Given the description of an element on the screen output the (x, y) to click on. 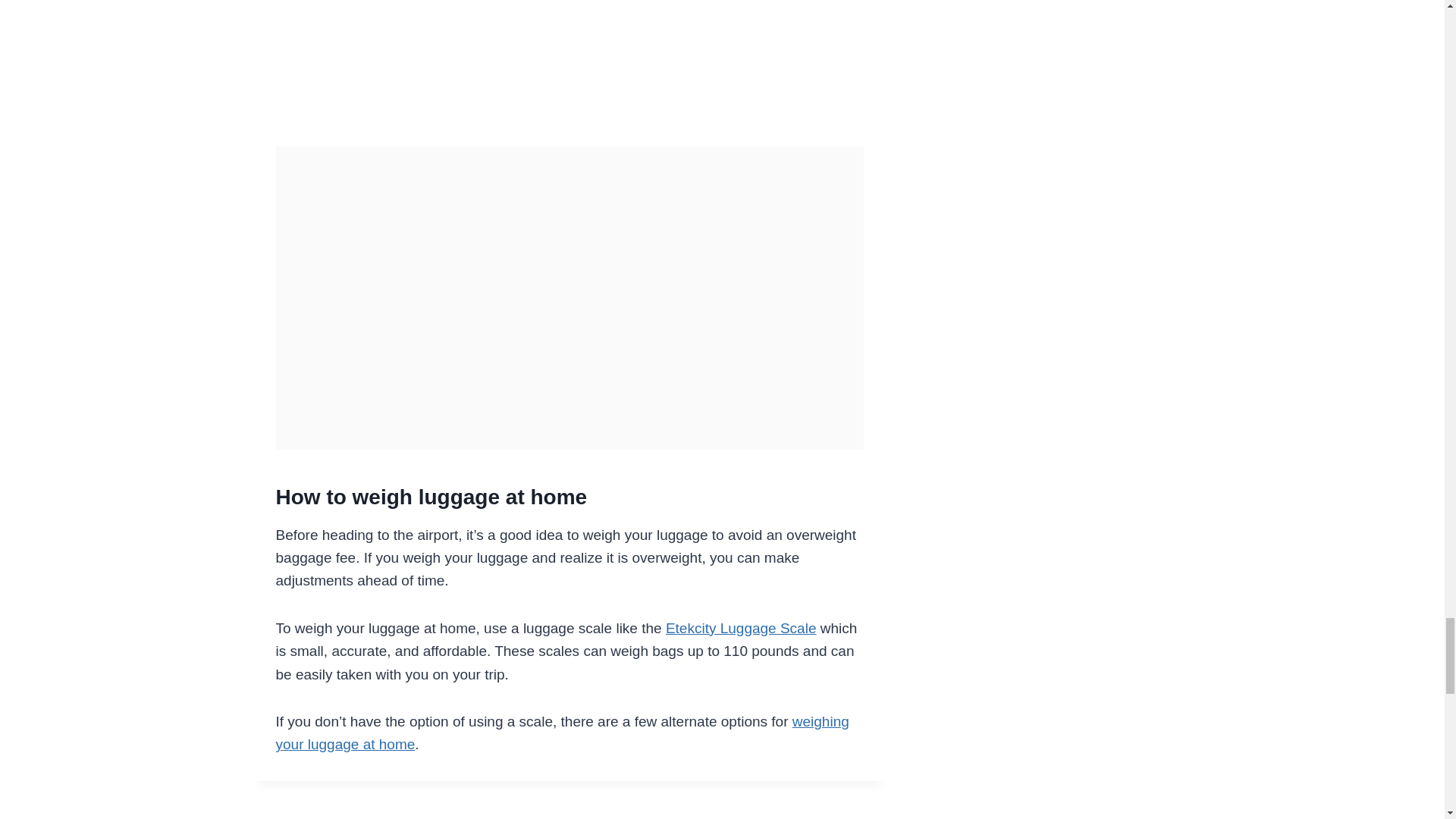
weighing your luggage at home (562, 732)
Etekcity Luggage Scale (740, 627)
